Given the description of an element on the screen output the (x, y) to click on. 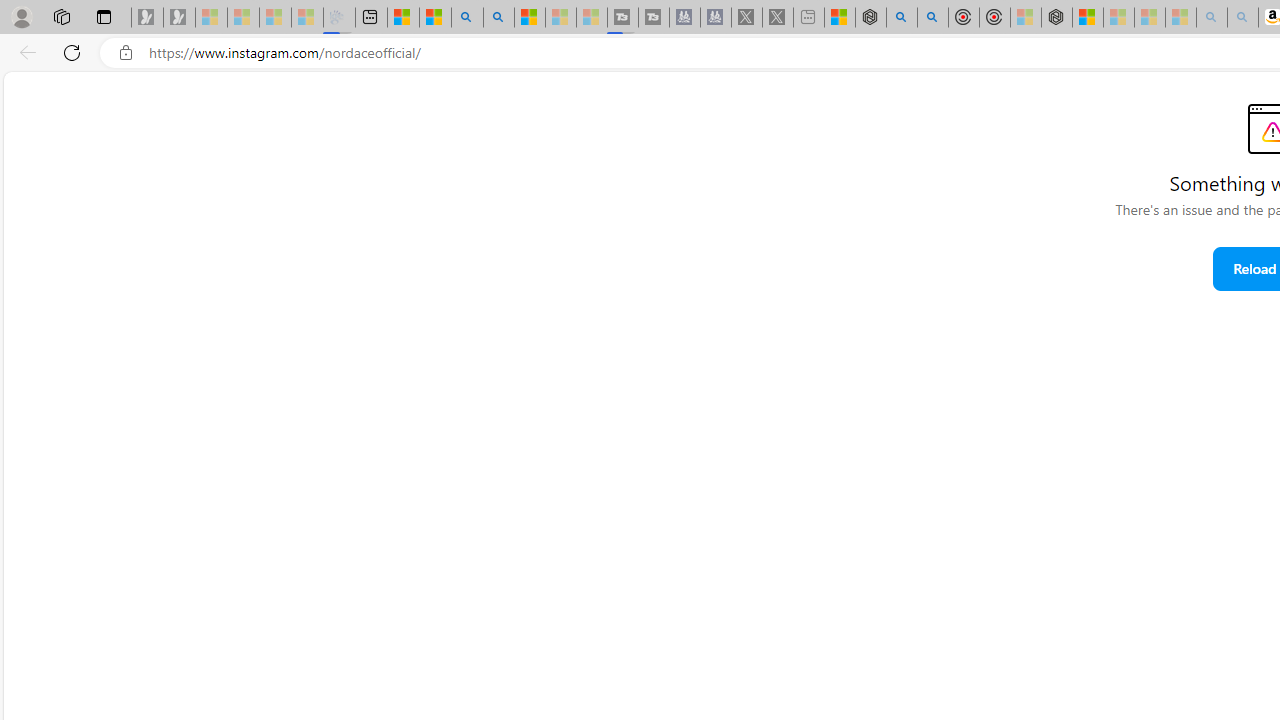
poe ++ standard - Search (932, 17)
Newsletter Sign Up - Sleeping (178, 17)
